Given the description of an element on the screen output the (x, y) to click on. 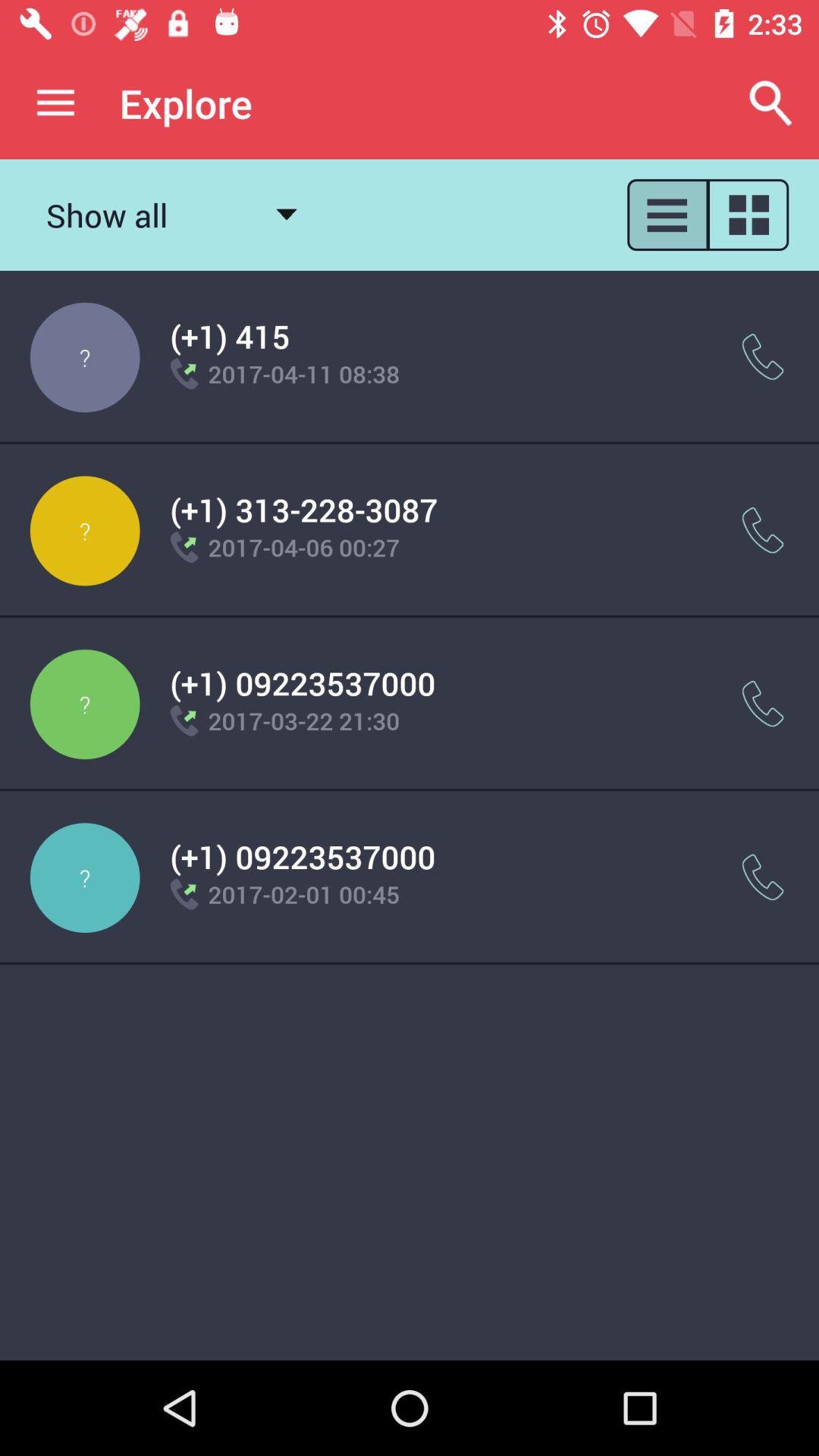
calling (762, 703)
